Given the description of an element on the screen output the (x, y) to click on. 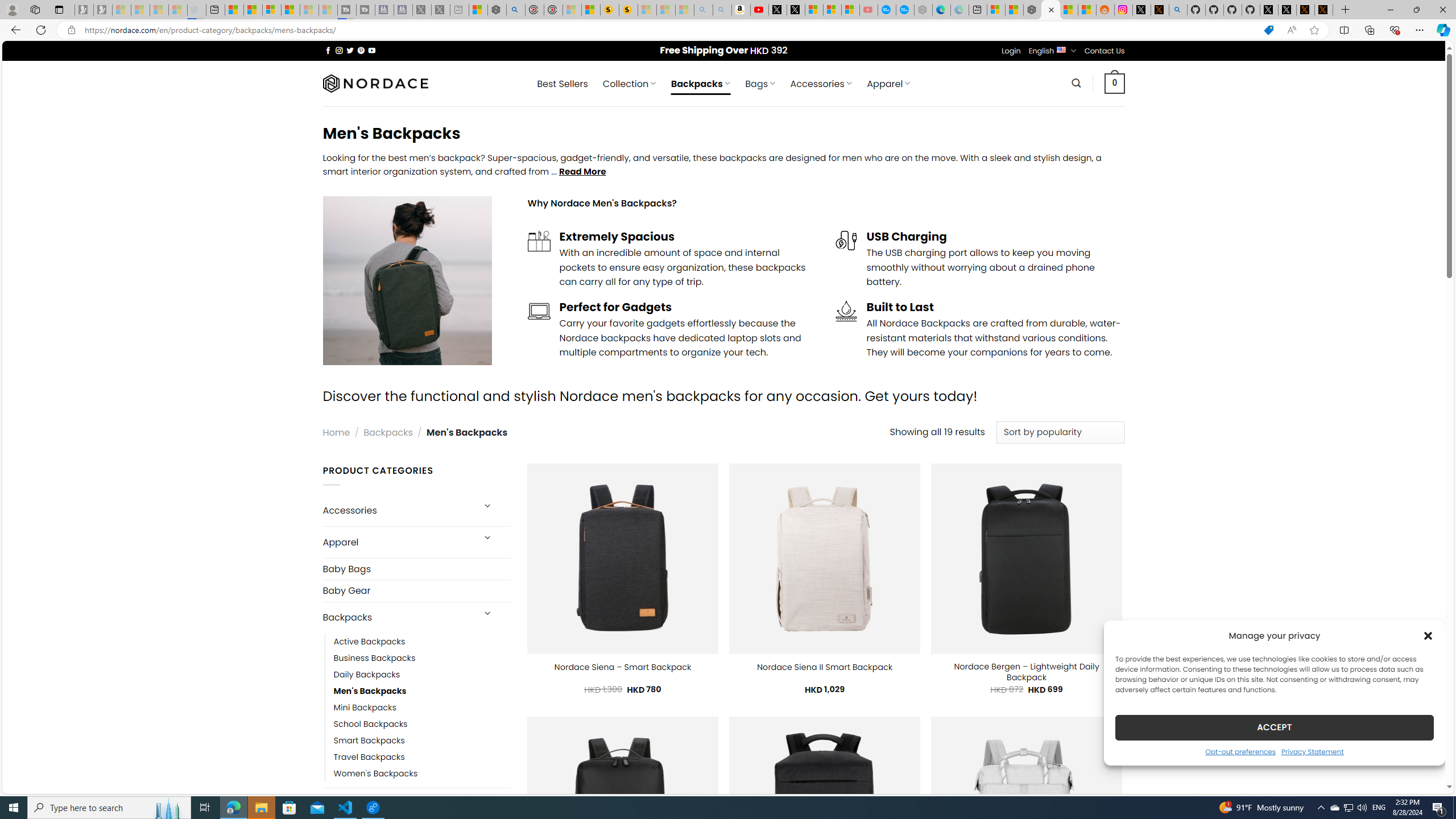
Nordace - Men's Backpacks (1050, 9)
Search (1076, 83)
Women's Backpacks (375, 773)
Profile / X (1268, 9)
poe - Search (515, 9)
Baby Bags (416, 568)
Active Backpacks (422, 641)
